Given the description of an element on the screen output the (x, y) to click on. 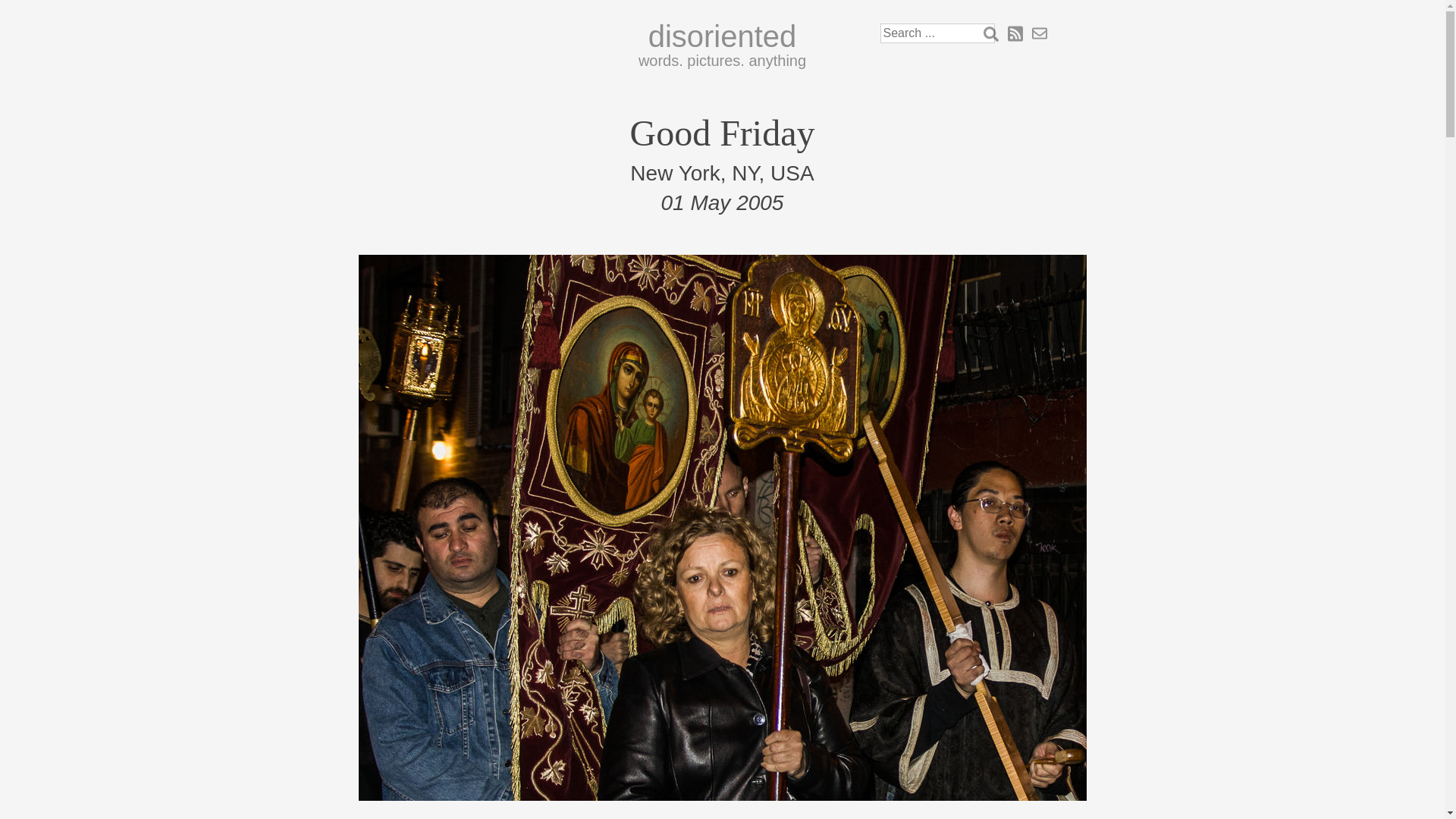
disoriented (721, 36)
Send email to site owner (1038, 33)
Atom and JSON feeds (1014, 33)
Search website (989, 33)
